Given the description of an element on the screen output the (x, y) to click on. 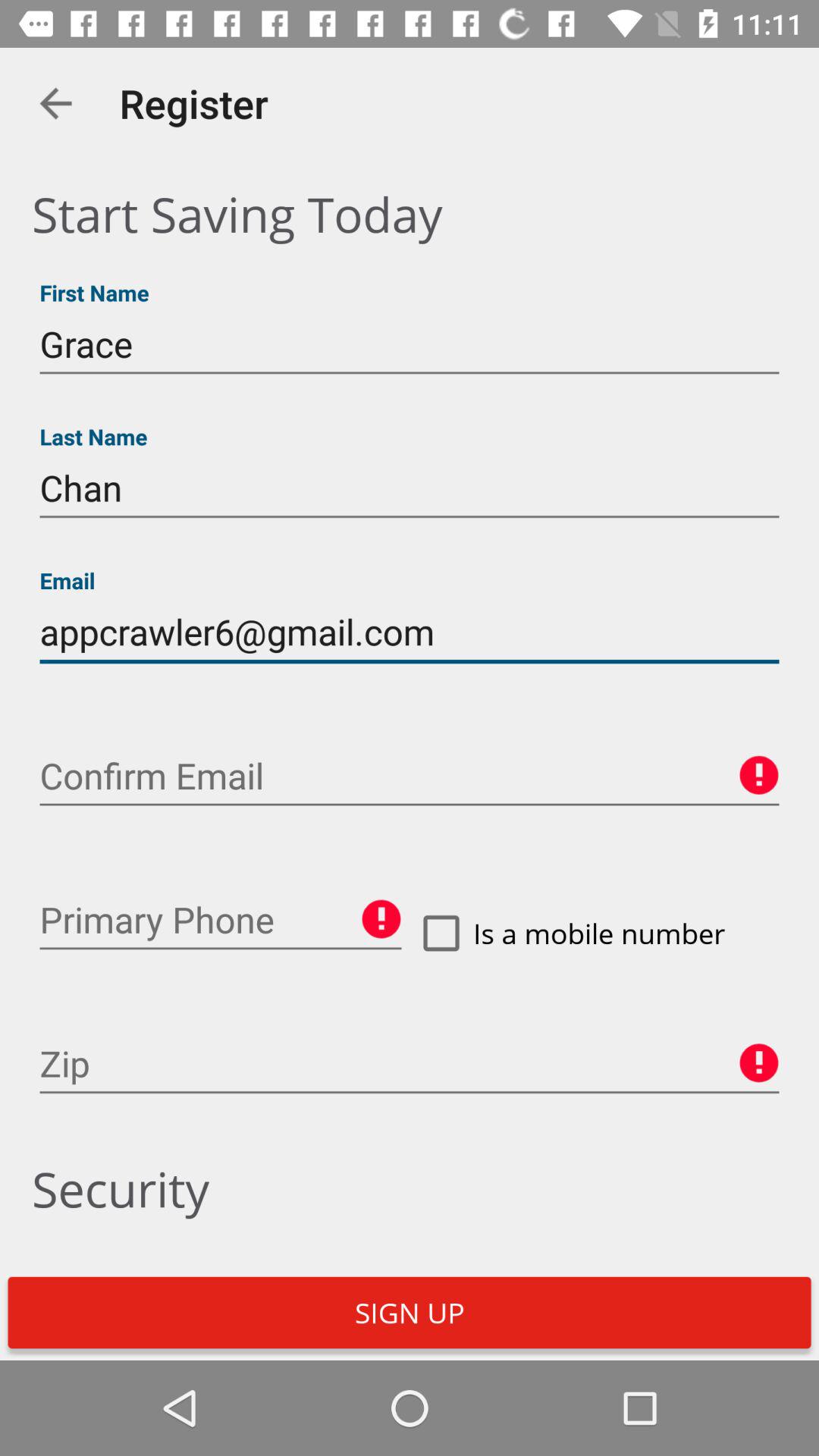
email option (409, 776)
